Given the description of an element on the screen output the (x, y) to click on. 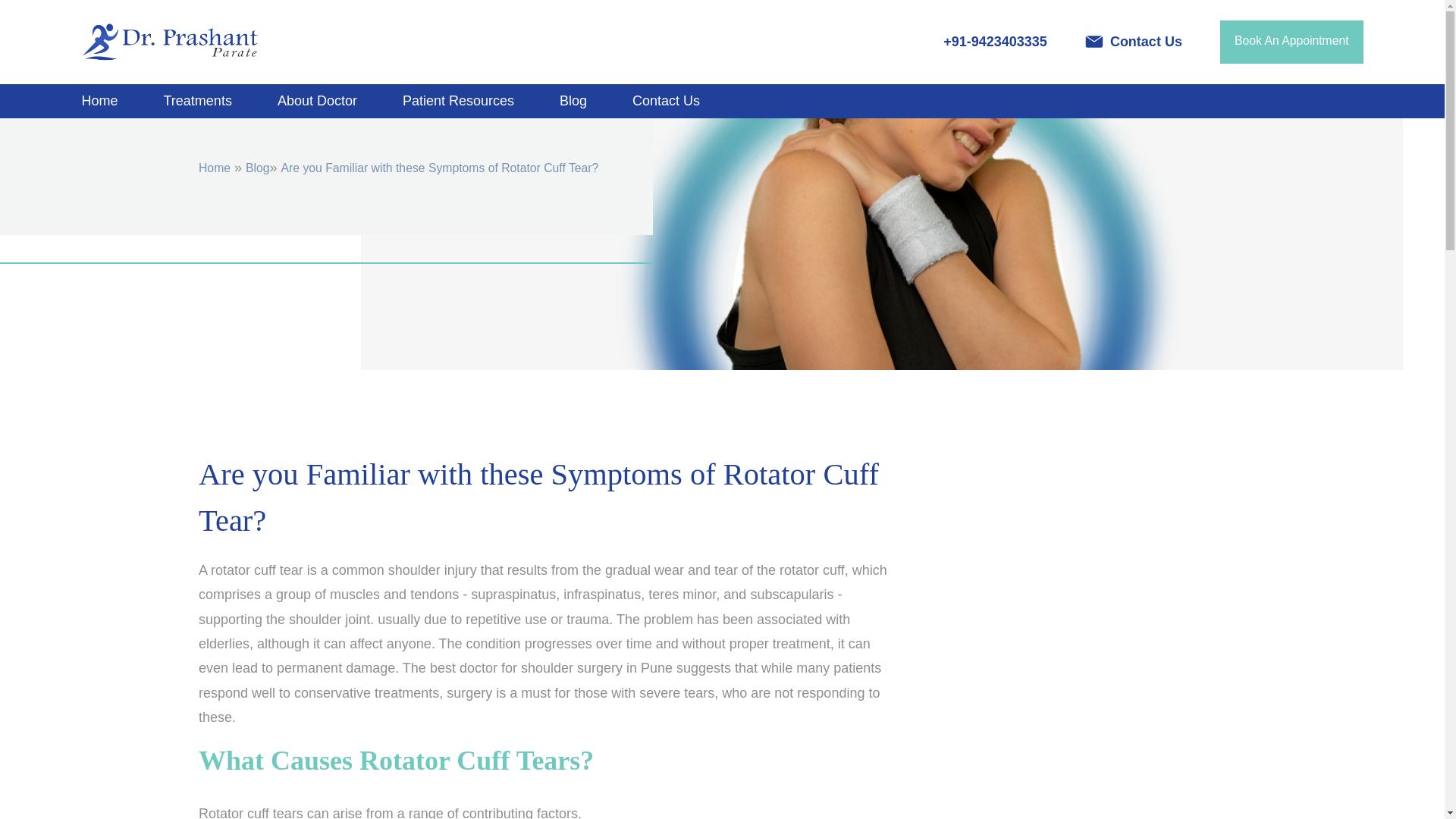
About Doctor (317, 100)
Patient Resources (458, 100)
Contact Us (1133, 41)
Treatments (197, 100)
Contact Us (666, 100)
Blog (573, 100)
email (1133, 41)
Home (100, 100)
Book An Appointment (1291, 41)
